Given the description of an element on the screen output the (x, y) to click on. 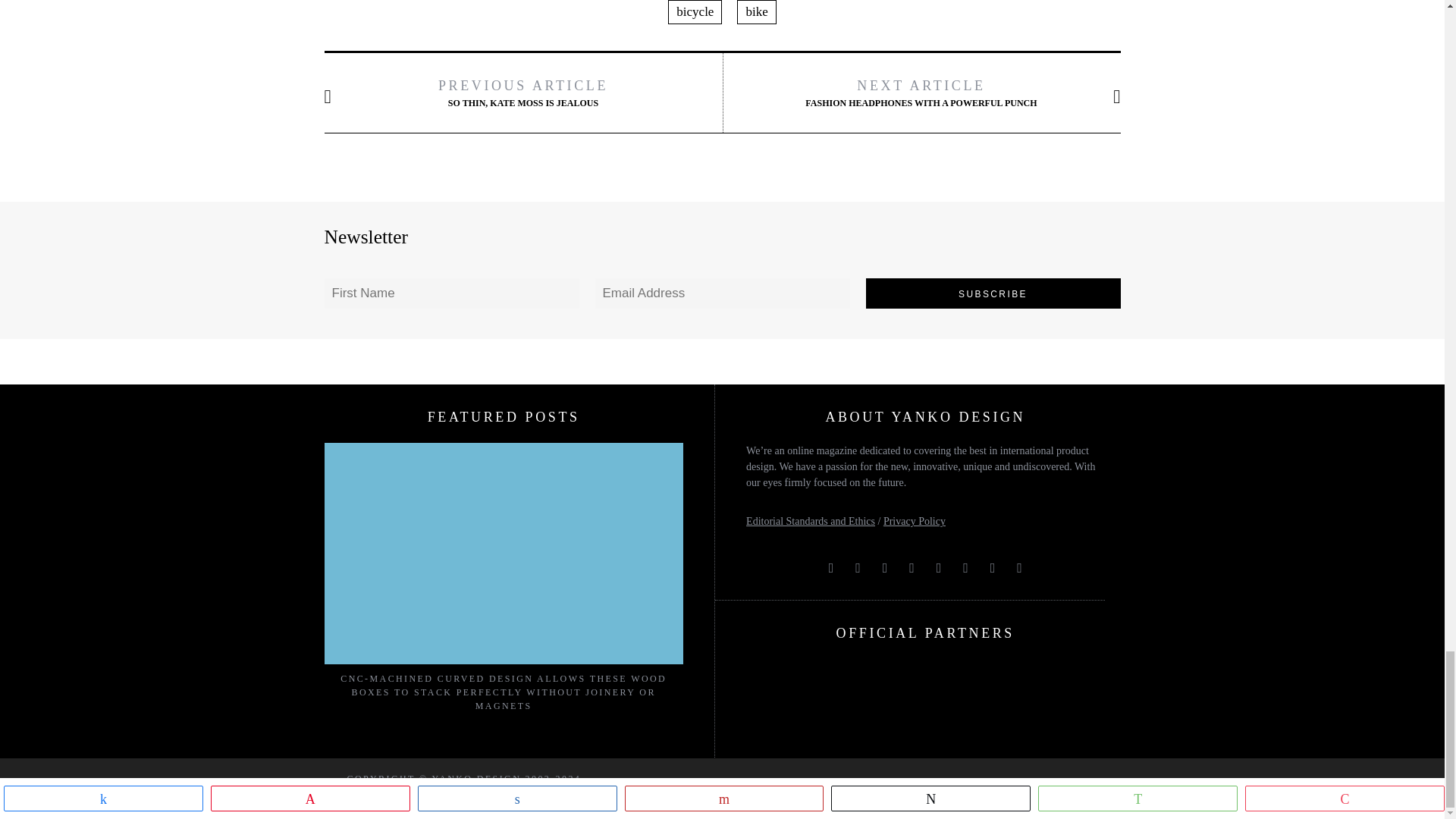
Privacy Policy (913, 521)
Subscribe (993, 293)
Editorial Standards and Ethics (810, 521)
